Given the description of an element on the screen output the (x, y) to click on. 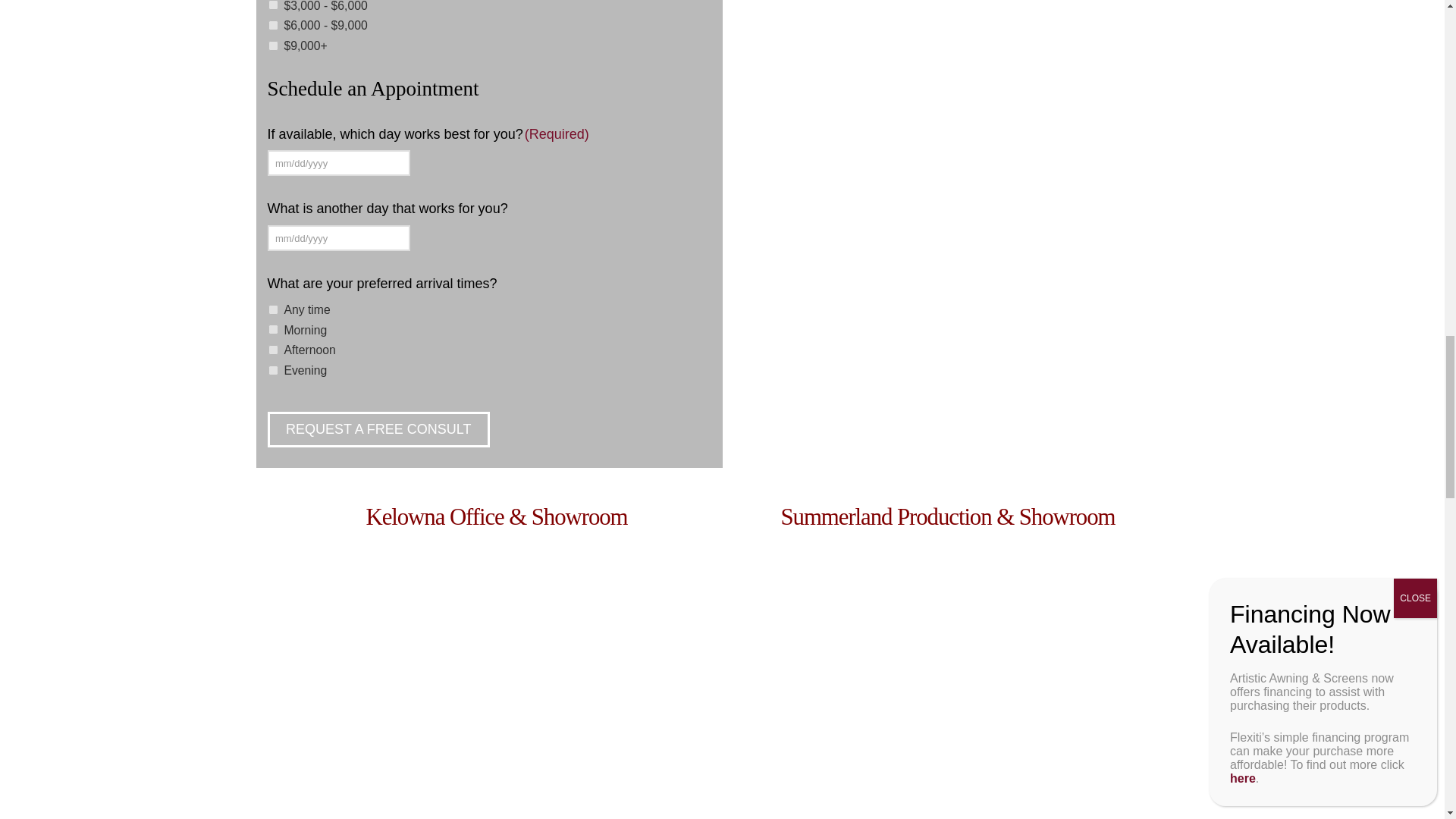
REQUEST A FREE CONSULT (377, 429)
